Given the description of an element on the screen output the (x, y) to click on. 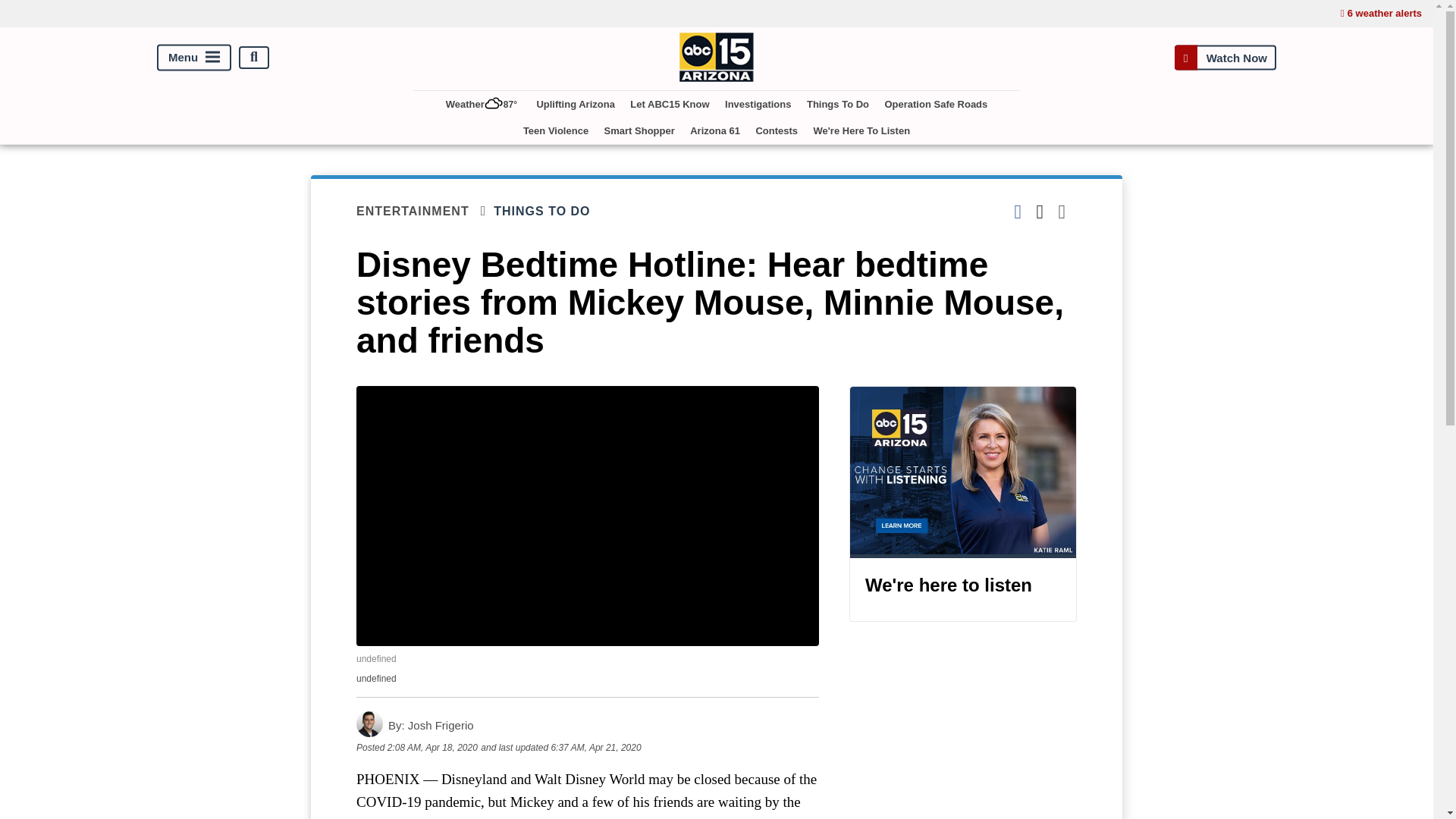
Watch Now (1224, 56)
Menu (194, 57)
